Given the description of an element on the screen output the (x, y) to click on. 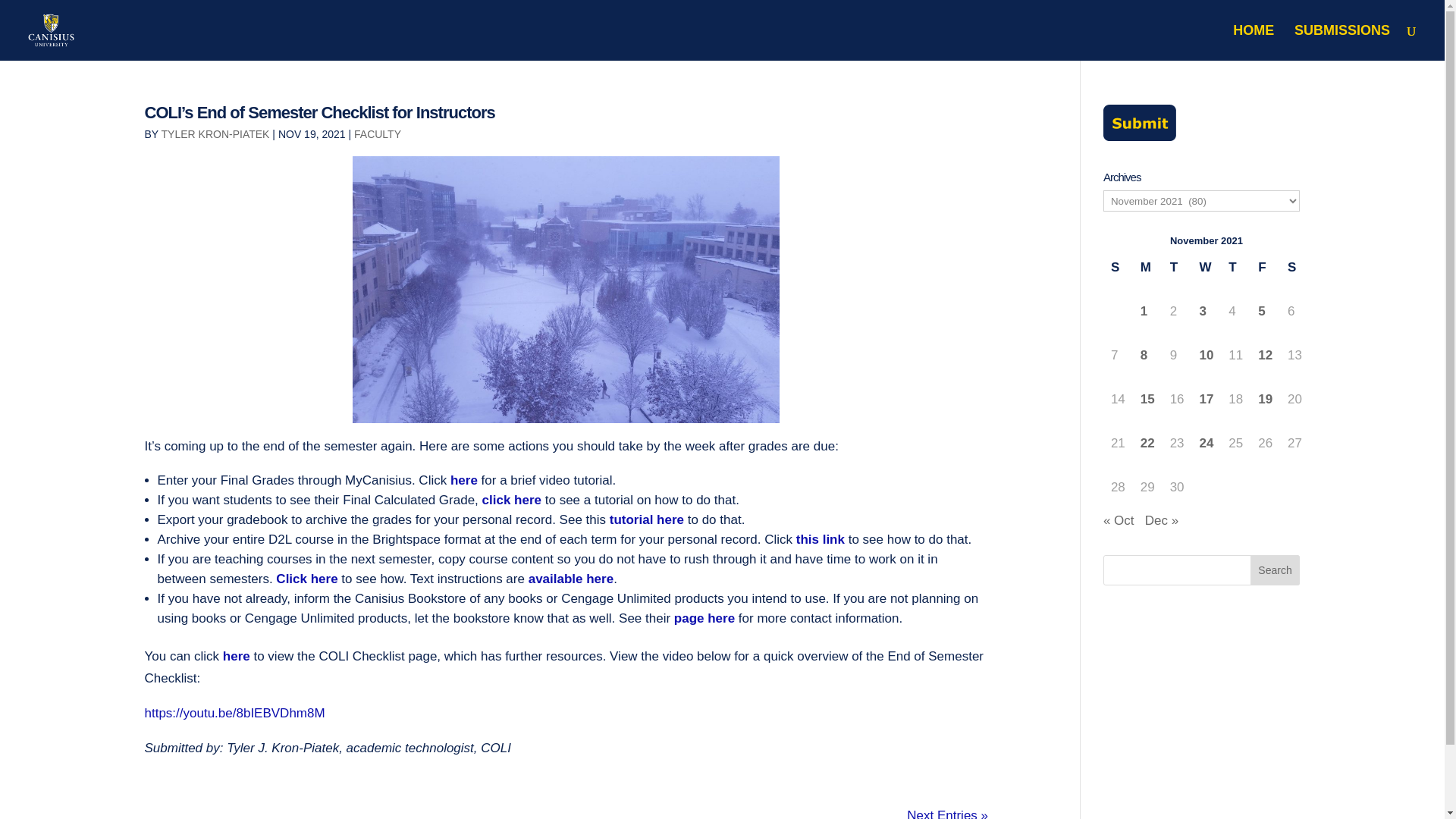
TYLER KRON-PIATEK (215, 133)
FACULTY (377, 133)
this link  (822, 539)
page here (704, 617)
here (463, 480)
HOME (1253, 42)
 tutorial here (644, 519)
SUBMISSIONS (1342, 42)
 click here (510, 499)
Posts by Tyler Kron-Piatek (215, 133)
here (236, 656)
available here (570, 578)
Search (1275, 570)
Search (1275, 570)
Click here (306, 578)
